Given the description of an element on the screen output the (x, y) to click on. 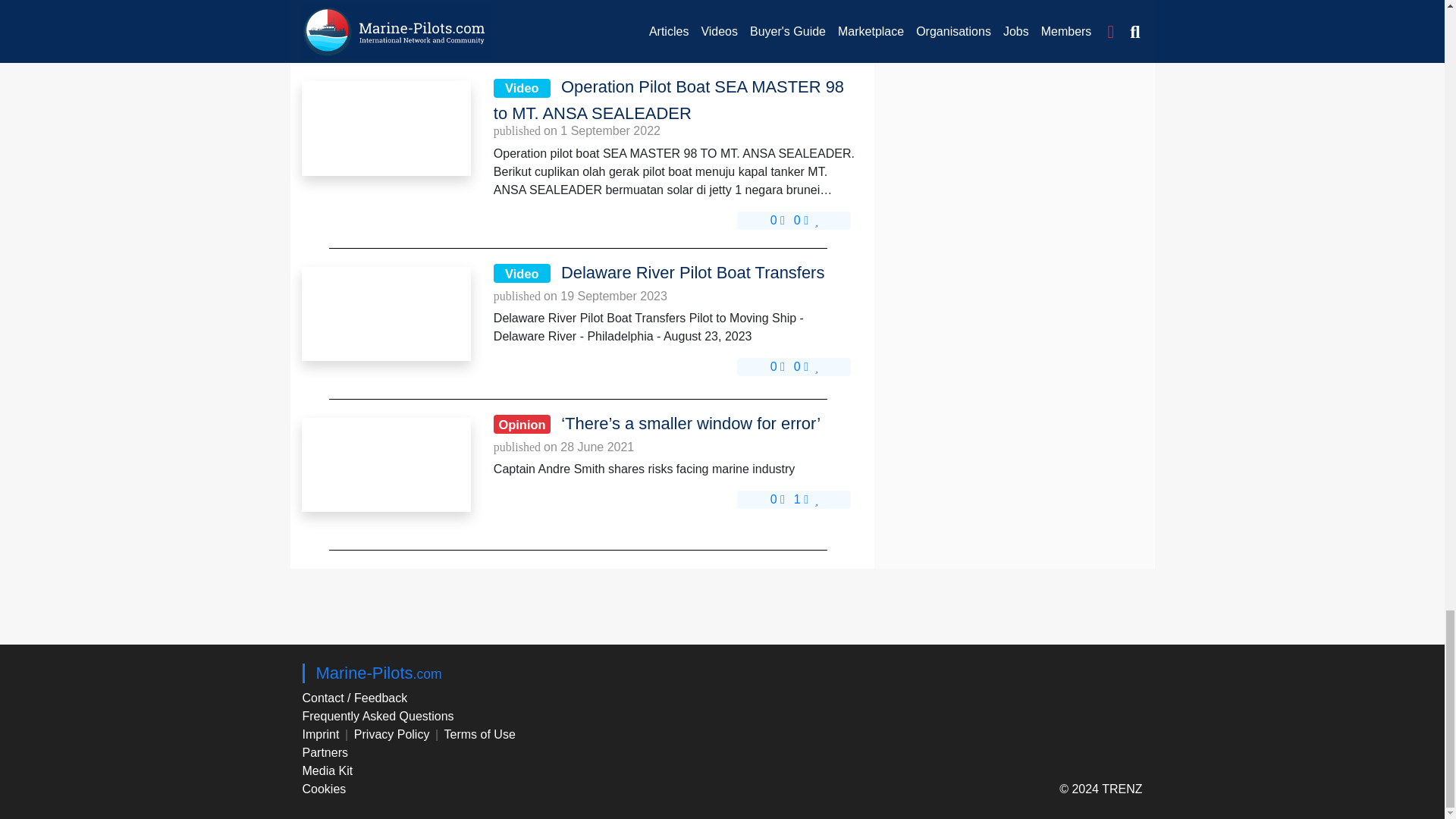
Operation Pilot Boat SEA MASTER 98 to MT. ANSA SEALEADER (385, 128)
Delaware River Pilot Boat Transfers (385, 313)
Thai maritime pilots - image video (385, 12)
